Given the description of an element on the screen output the (x, y) to click on. 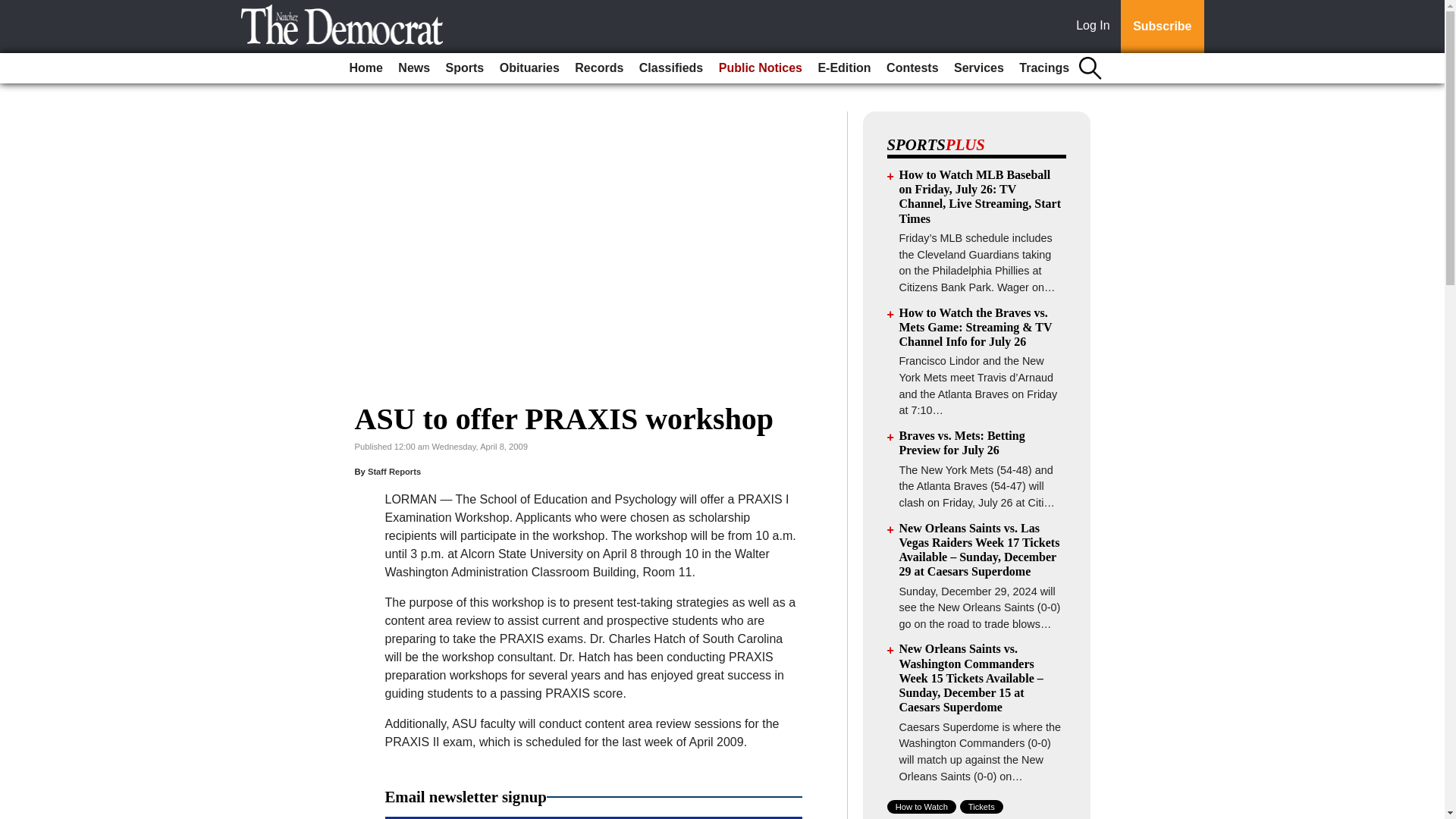
Subscribe (1162, 26)
Tracings (1044, 68)
Contests (911, 68)
News (413, 68)
Records (598, 68)
Public Notices (760, 68)
Log In (1095, 26)
Classifieds (671, 68)
Obituaries (529, 68)
Go (13, 9)
Services (978, 68)
E-Edition (843, 68)
Home (365, 68)
Staff Reports (394, 470)
